Given the description of an element on the screen output the (x, y) to click on. 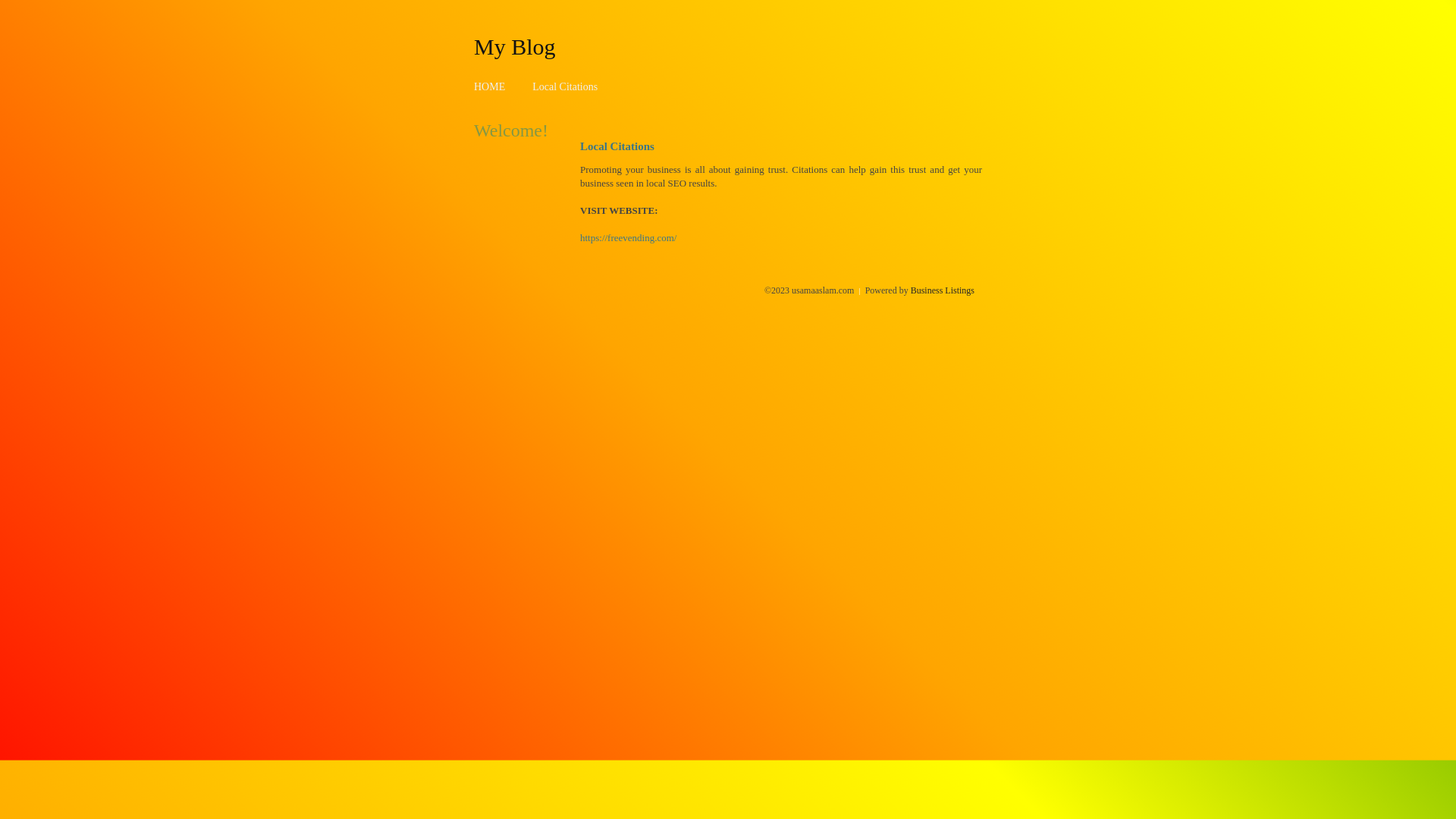
Local Citations Element type: text (564, 86)
https://freevending.com/ Element type: text (628, 237)
HOME Element type: text (489, 86)
My Blog Element type: text (514, 46)
Business Listings Element type: text (942, 290)
